Given the description of an element on the screen output the (x, y) to click on. 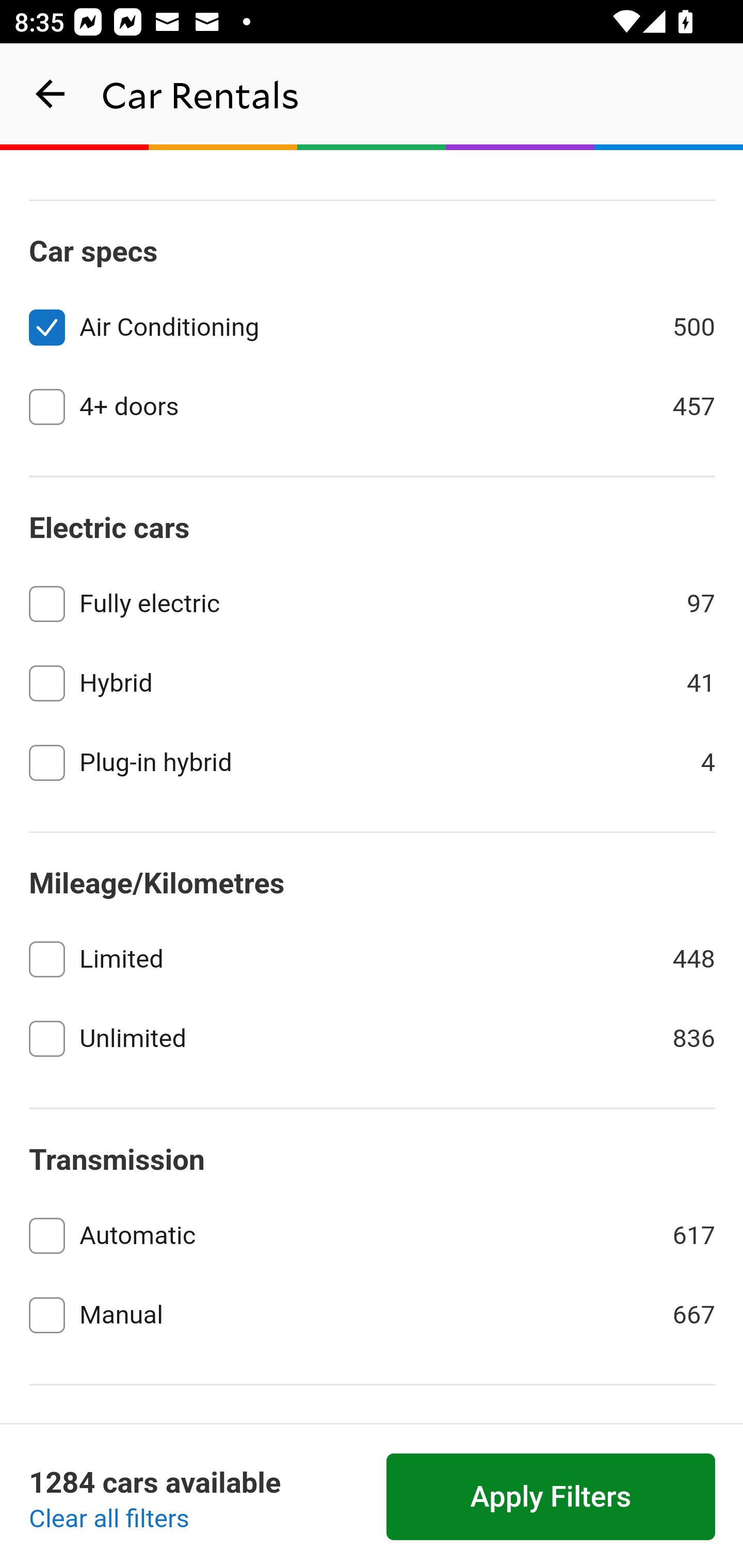
navigation_button (50, 93)
Apply Filters (551, 1497)
Clear all filters (108, 1519)
